Given the description of an element on the screen output the (x, y) to click on. 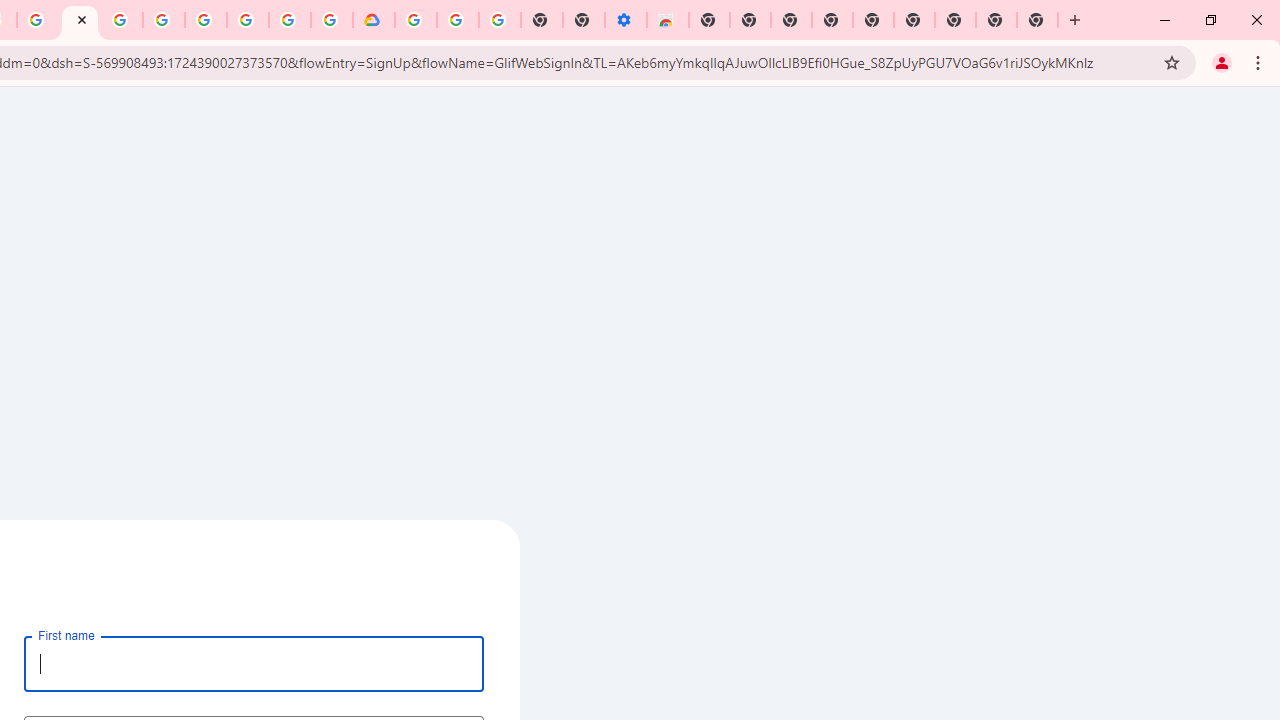
Settings - Accessibility (625, 20)
New Tab (955, 20)
First name (253, 663)
Browse the Google Chrome Community - Google Chrome Community (332, 20)
